Given the description of an element on the screen output the (x, y) to click on. 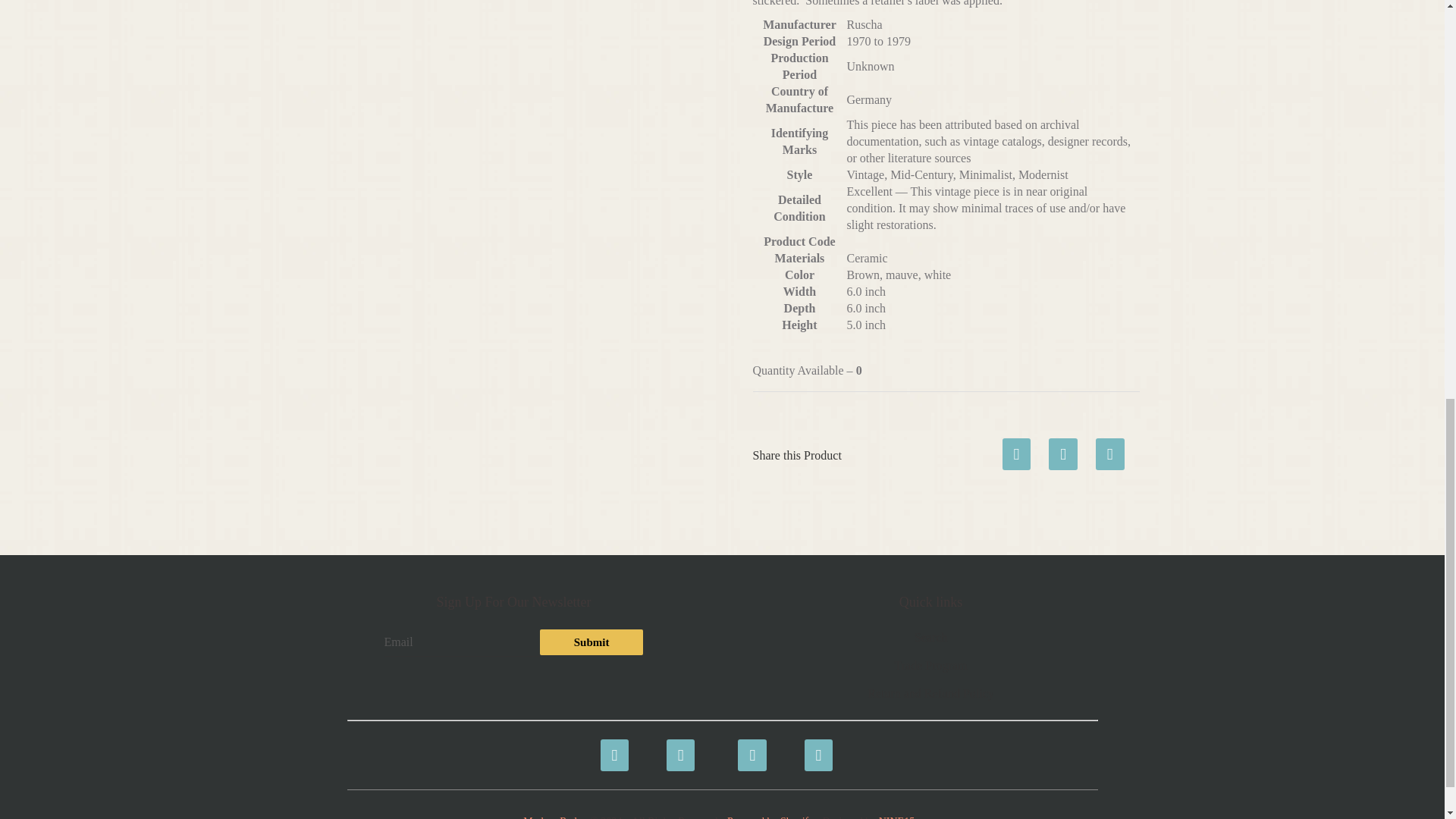
Pin on Pinterest (1110, 449)
Powered by Shopify (769, 817)
Modern Redux (554, 817)
Share on Facebook (1016, 449)
Return and Refund Policy (930, 693)
Twitter (677, 746)
NINE15 (896, 817)
Facebook (611, 746)
Modern Redux on Pinterest (749, 746)
Modern Redux on Instagram (816, 746)
Trade Program (931, 665)
Modern Redux on Facebook (611, 746)
Instagram (816, 746)
Pinterest (749, 746)
Submit (591, 642)
